Given the description of an element on the screen output the (x, y) to click on. 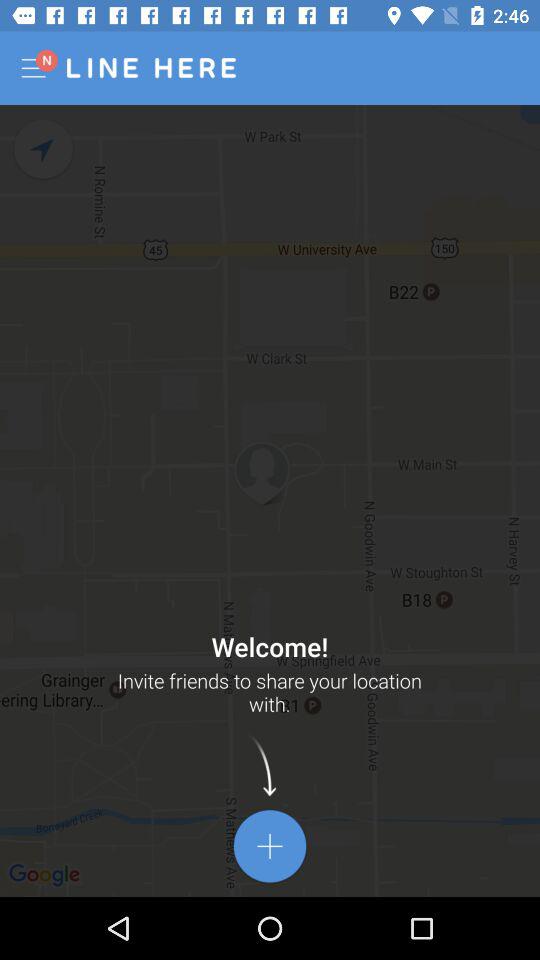
navigate (44, 149)
